Given the description of an element on the screen output the (x, y) to click on. 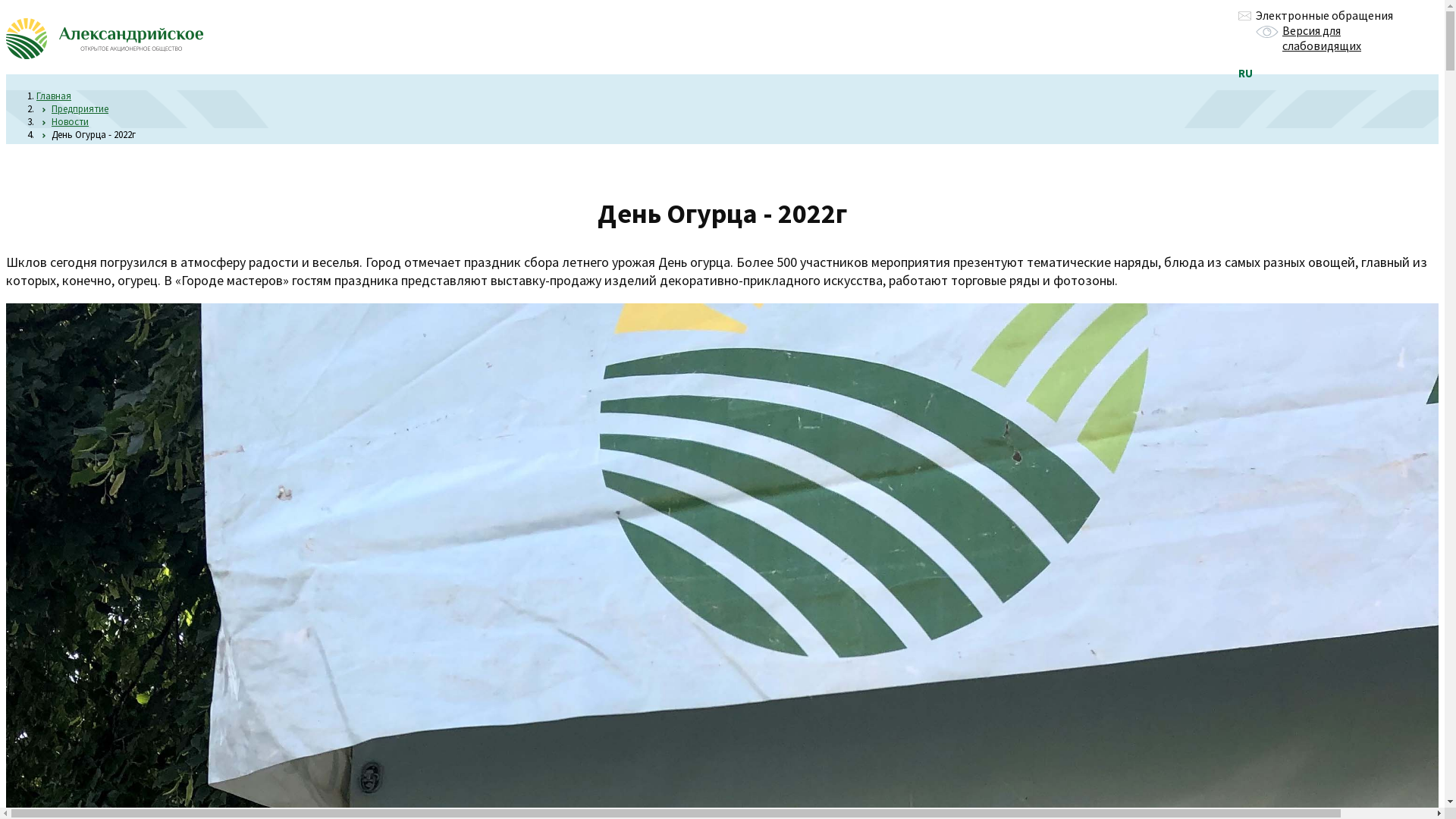
RU Element type: text (1245, 72)
